Given the description of an element on the screen output the (x, y) to click on. 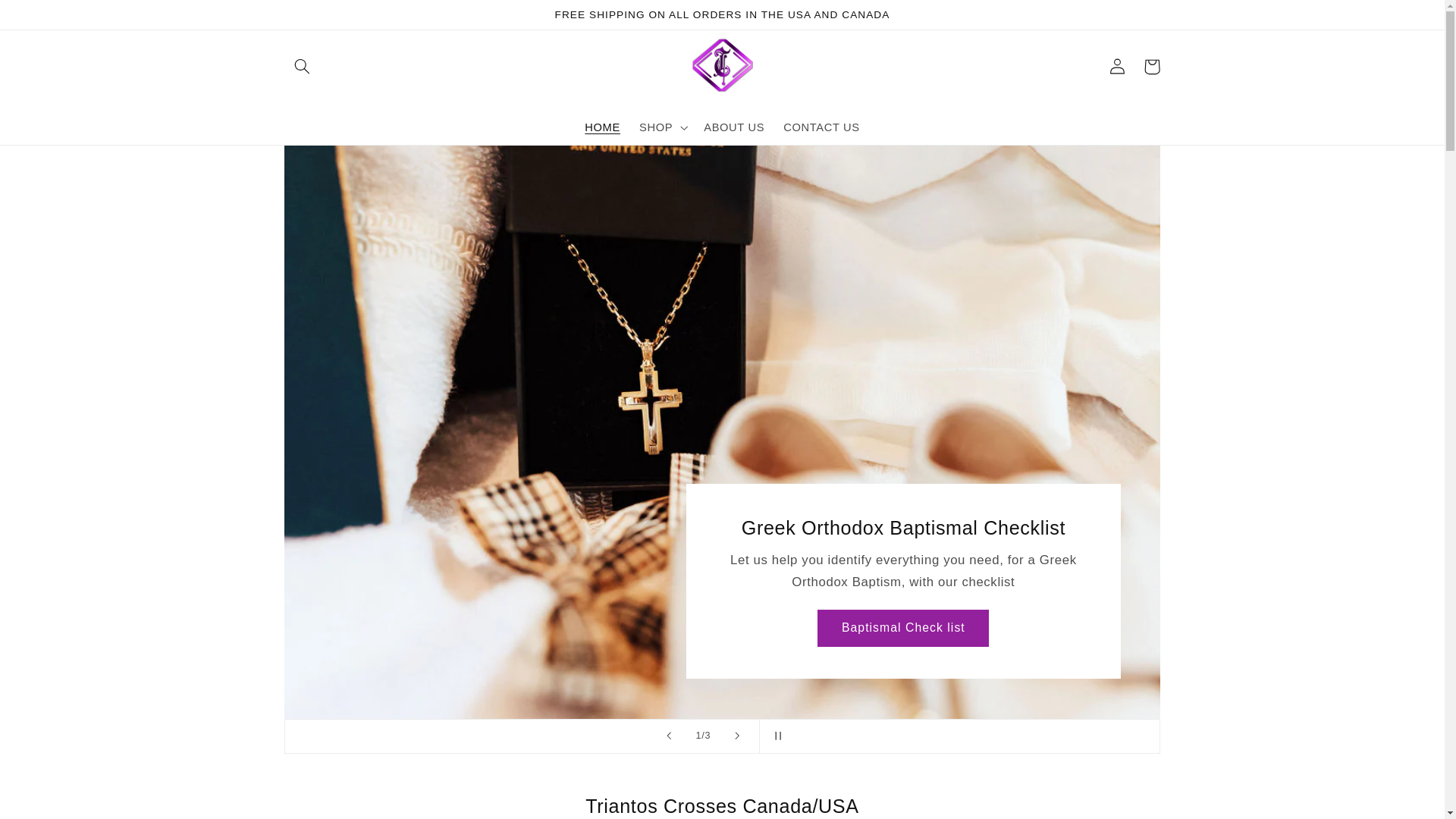
HOME (602, 127)
Log in (1116, 66)
Skip to content (48, 18)
ABOUT US (734, 127)
CONTACT US (821, 127)
